Given the description of an element on the screen output the (x, y) to click on. 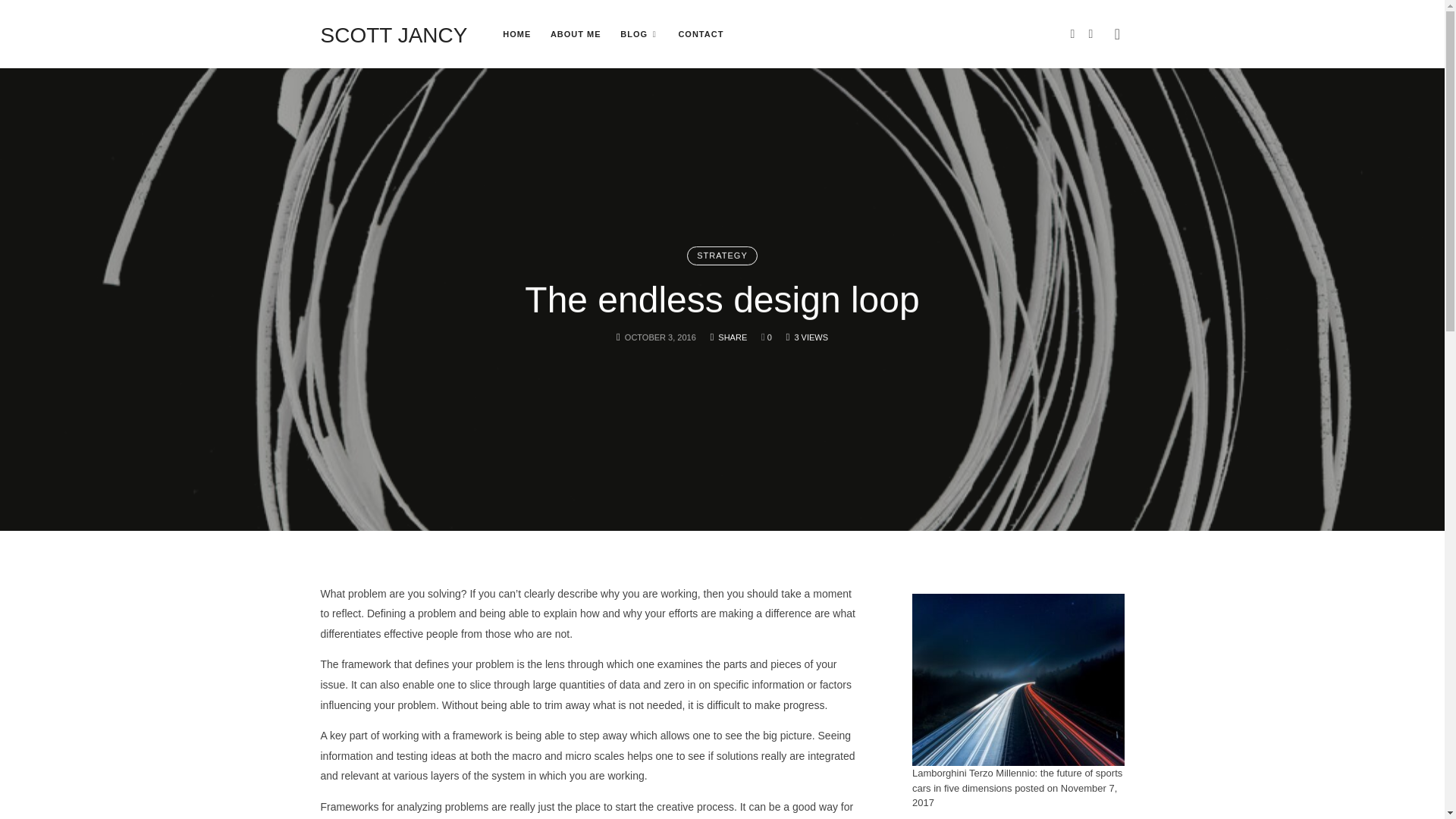
STRATEGY (722, 255)
OCTOBER 3, 2016 (659, 337)
